Given the description of an element on the screen output the (x, y) to click on. 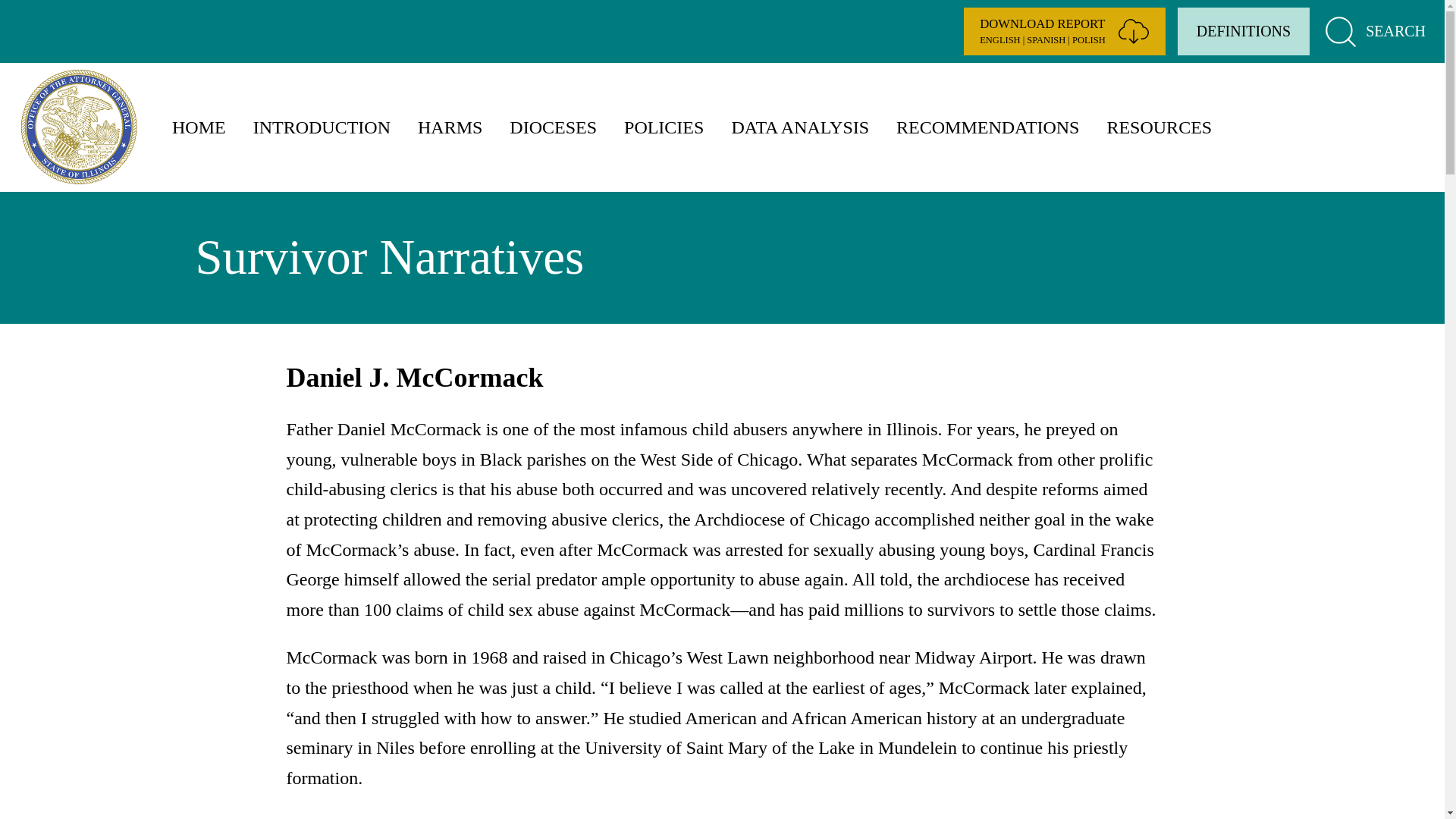
POLICIES (663, 128)
DIOCESES (553, 128)
RESOURCES (1159, 128)
DEFINITIONS (1242, 31)
HARMS (450, 128)
INTRODUCTION (322, 128)
DATA ANALYSIS (799, 128)
RECOMMENDATIONS (987, 128)
HOME (199, 128)
SEARCH (1373, 31)
